Given the description of an element on the screen output the (x, y) to click on. 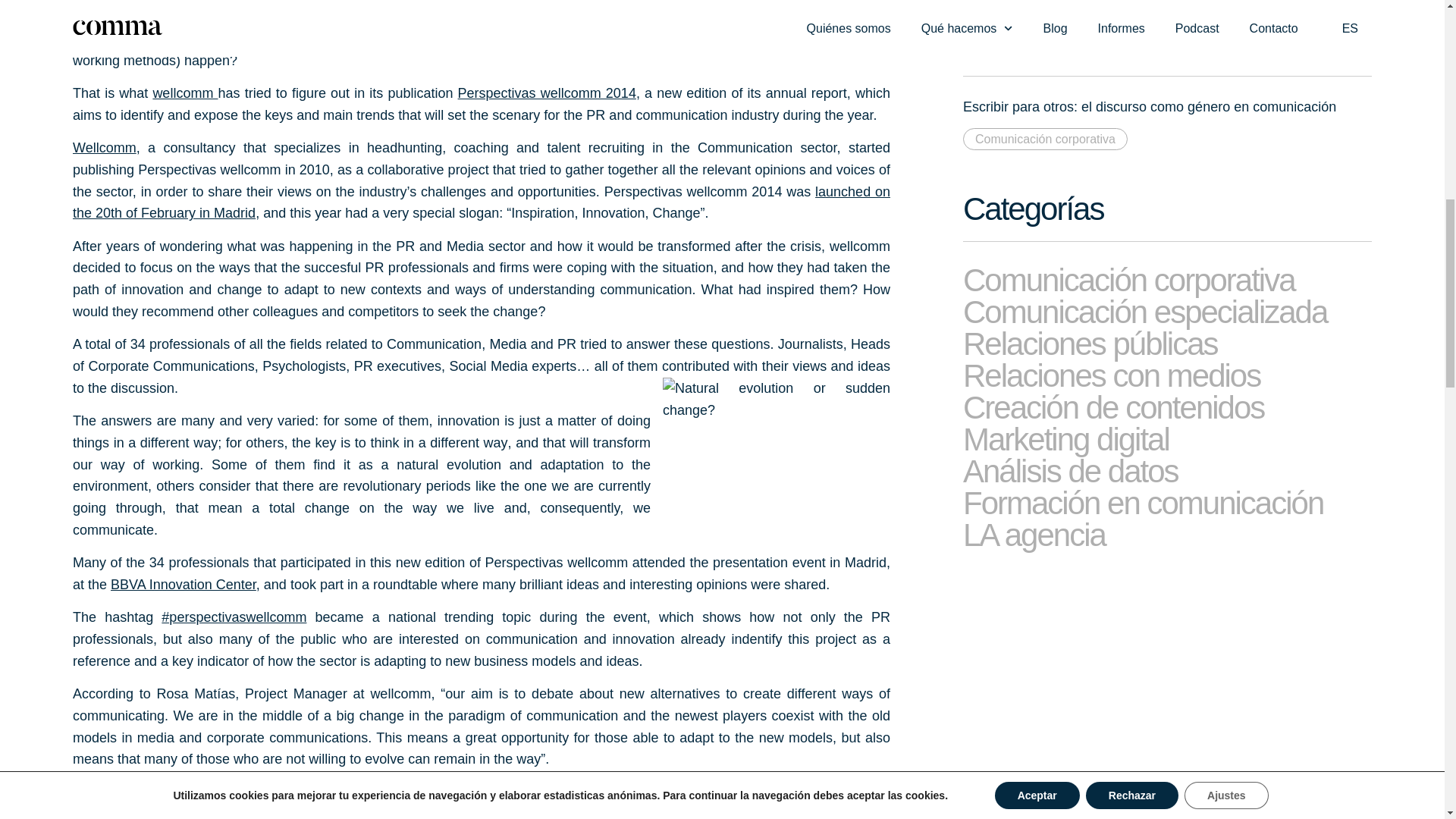
Perspectivas wellcomm 2014: launching (480, 202)
BBVA Innovation Center (183, 584)
Perspectivas wellcomm 2014 (547, 92)
wellcomm (184, 92)
wellcomm (184, 92)
wellcomm (104, 147)
